Given the description of an element on the screen output the (x, y) to click on. 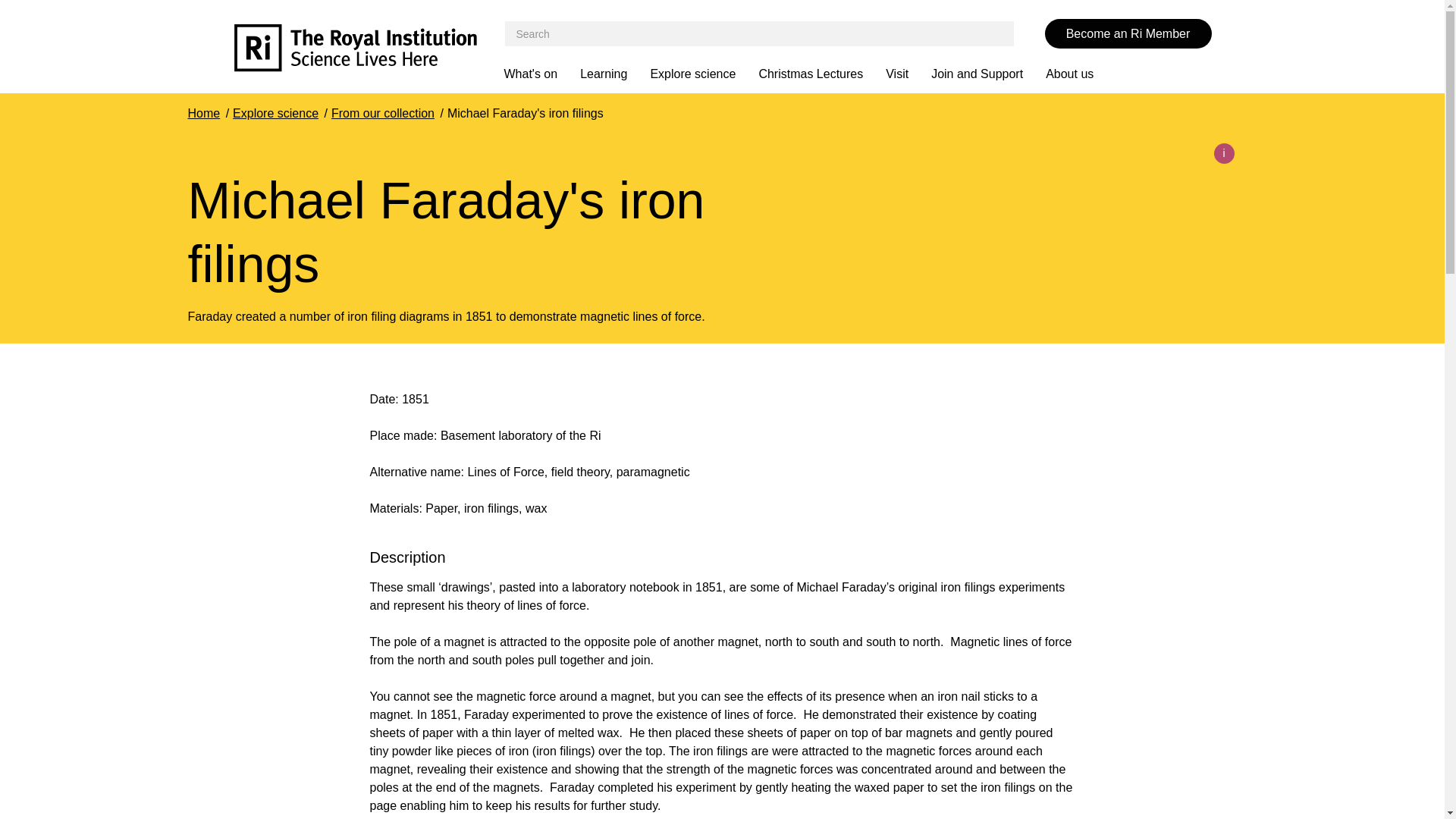
What's on (541, 74)
Royal Institution (367, 50)
Join and Support (988, 74)
Home (204, 113)
Christmas Lectures (821, 74)
From our collection (382, 113)
i (1222, 153)
Explore science (275, 113)
Explore science (703, 74)
Visit (908, 74)
